Given the description of an element on the screen output the (x, y) to click on. 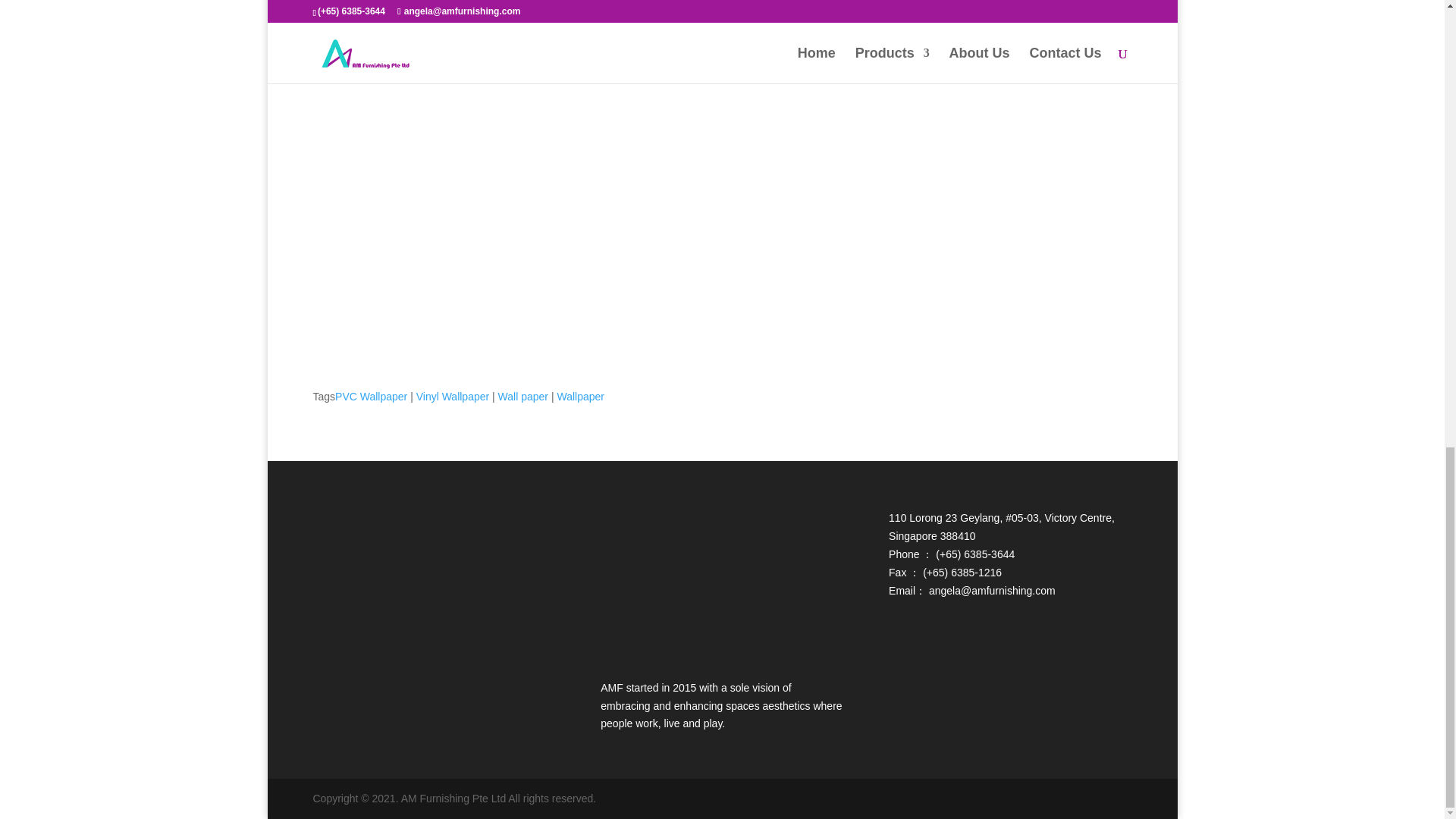
Wall paper (522, 396)
Vinyl Wallpaper (452, 396)
Wallpaper (580, 396)
PVC Wallpaper (370, 396)
